Given the description of an element on the screen output the (x, y) to click on. 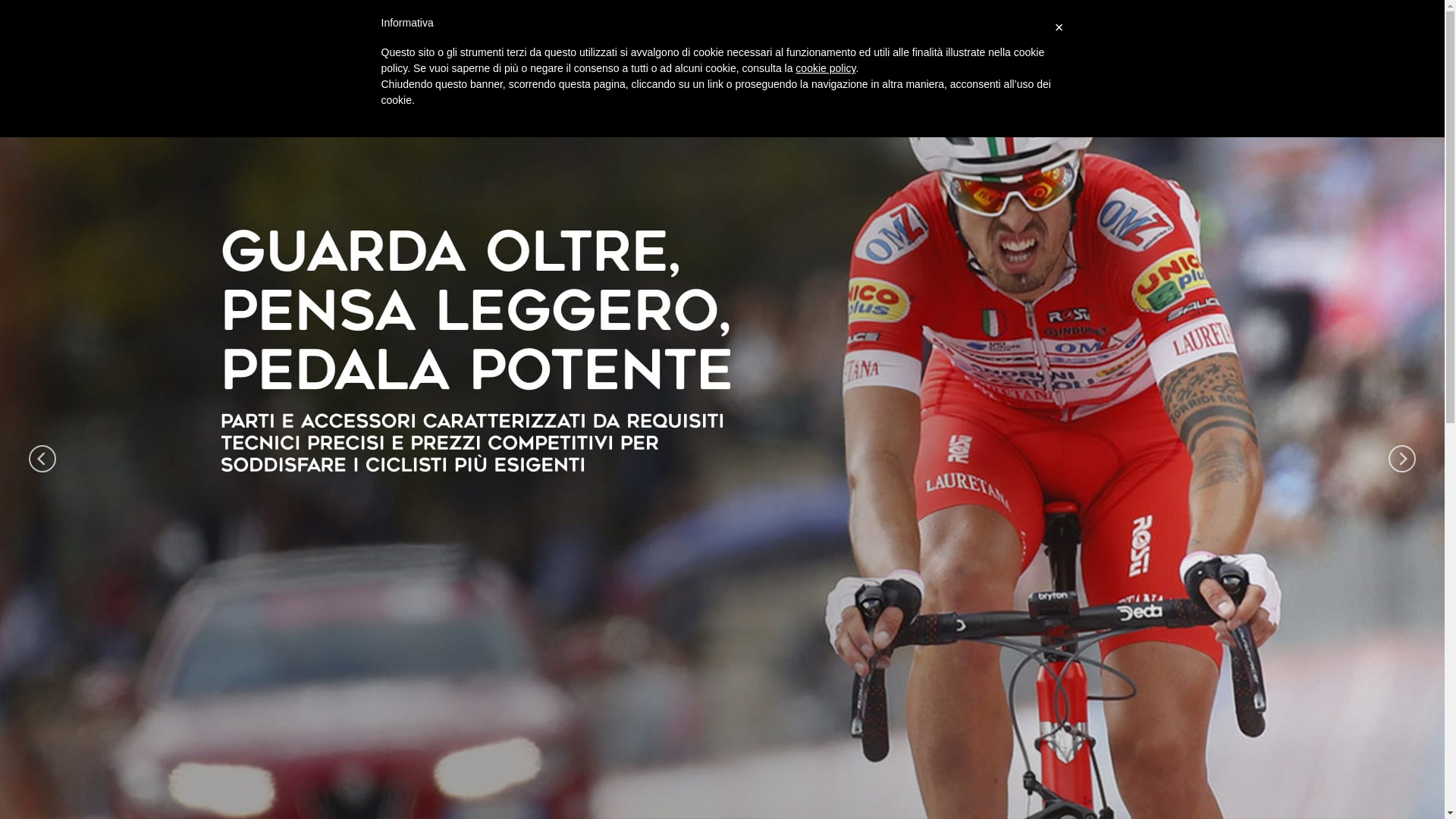
CATALOGO Element type: text (613, 60)
cookie policy Element type: text (825, 68)
Eleven - My WordPress Blog Element type: hover (388, 60)
HOME Element type: text (490, 60)
CHI SIAMO Element type: text (545, 60)
CONTATTI Element type: text (679, 60)
NEWSLETTER Element type: text (751, 60)
